Given the description of an element on the screen output the (x, y) to click on. 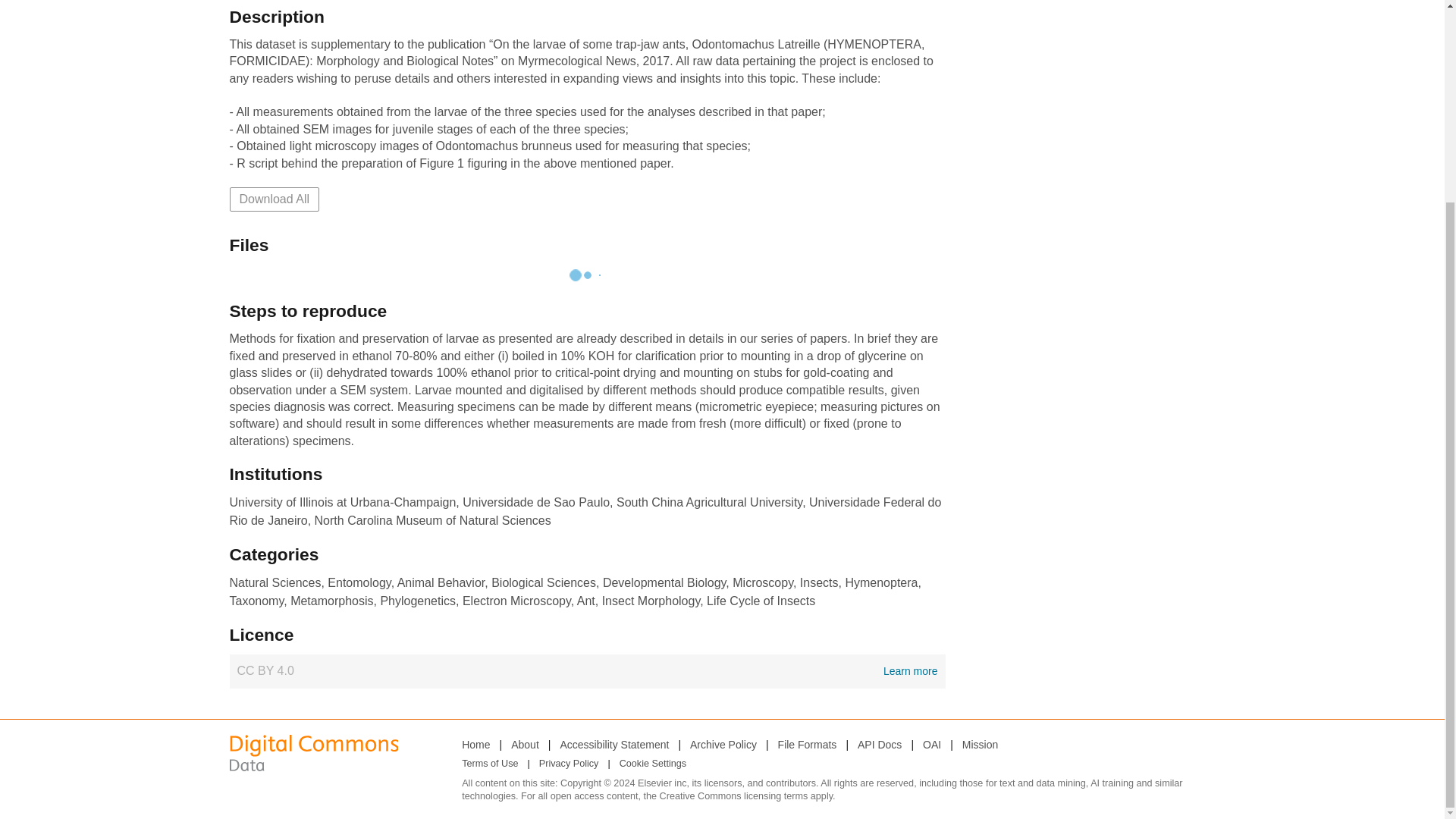
File Formats (586, 670)
Mission (807, 744)
Home (979, 744)
Accessibility Statement (475, 744)
About (613, 744)
Archive Policy (524, 744)
API Docs (723, 744)
Privacy Policy (879, 744)
Download All (568, 763)
